Given the description of an element on the screen output the (x, y) to click on. 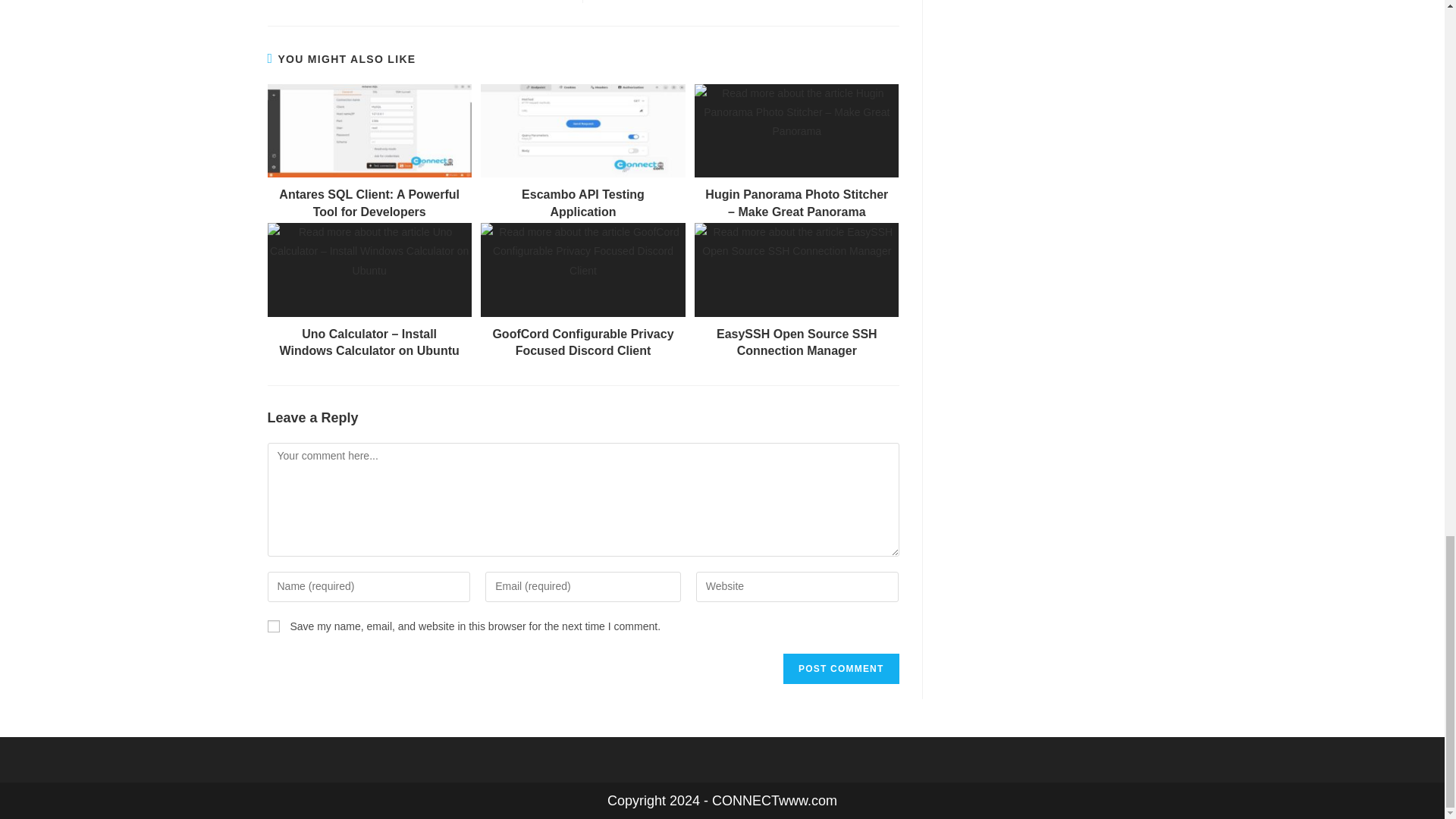
Post Comment (840, 668)
yes (272, 625)
